Given the description of an element on the screen output the (x, y) to click on. 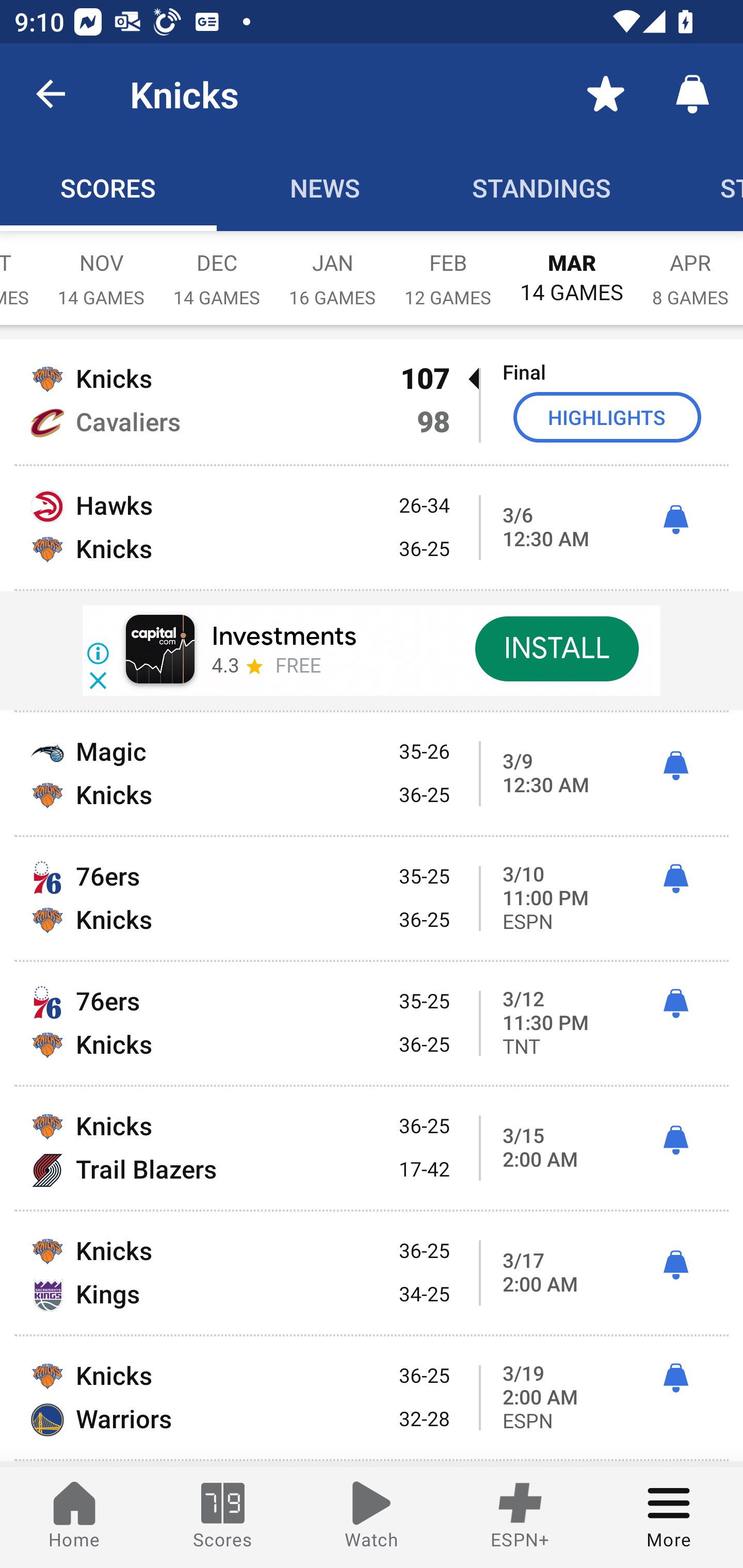
back.button (50, 93)
Favorite toggle (605, 93)
Alerts (692, 93)
News NEWS (324, 187)
Standings STANDINGS (541, 187)
NOV 14 GAMES (101, 268)
DEC 14 GAMES (216, 268)
JAN 16 GAMES (332, 268)
FEB 12 GAMES (447, 268)
MAR 14 GAMES (571, 267)
APR 8 GAMES (690, 268)
Knicks 107  Final Cavaliers 98 HIGHLIGHTS (371, 401)
HIGHLIGHTS (607, 417)
Hawks 26-34 Knicks 36-25 3/6 12:30 AM ì (371, 527)
ì (675, 519)
INSTALL (556, 649)
Investments (283, 636)
Magic 35-26 Knicks 36-25 3/9 12:30 AM ì (371, 773)
ì (675, 765)
76ers 35-25 Knicks 36-25 3/10 11:00 PM ì ESPN (371, 898)
ì (675, 878)
76ers 35-25 Knicks 36-25 3/12 11:30 PM ì TNT (371, 1023)
ì (675, 1003)
Knicks 36-25 Trail Blazers 17-42 3/15 2:00 AM ì (371, 1147)
ì (675, 1140)
Knicks 36-25 Kings 34-25 3/17 2:00 AM ì (371, 1273)
ì (675, 1265)
Knicks 36-25 Warriors 32-28 3/19 2:00 AM ì ESPN (371, 1397)
ì (675, 1377)
Home (74, 1517)
Scores (222, 1517)
Watch (371, 1517)
ESPN+ (519, 1517)
